Given the description of an element on the screen output the (x, y) to click on. 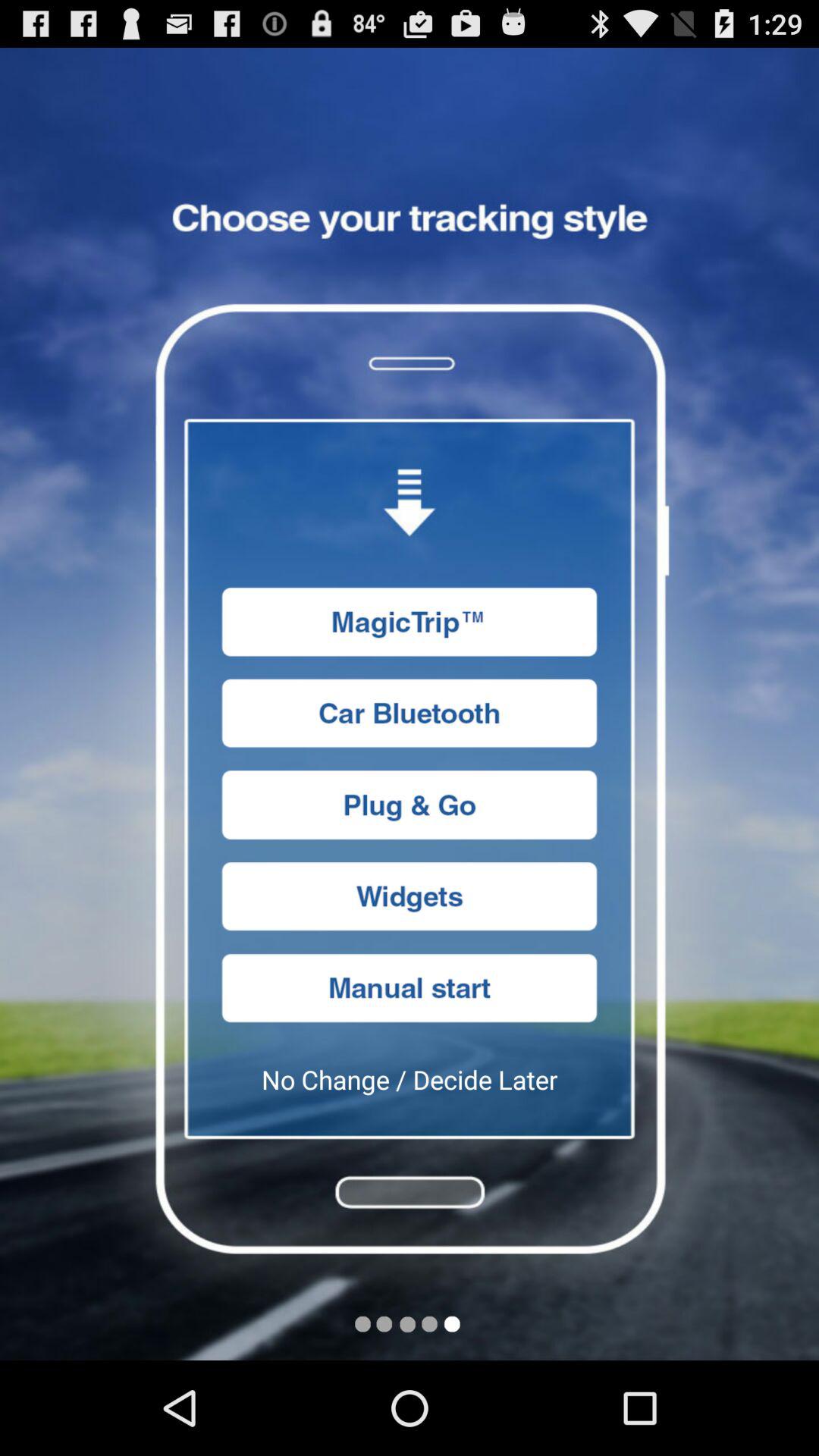
plug and go (409, 804)
